Given the description of an element on the screen output the (x, y) to click on. 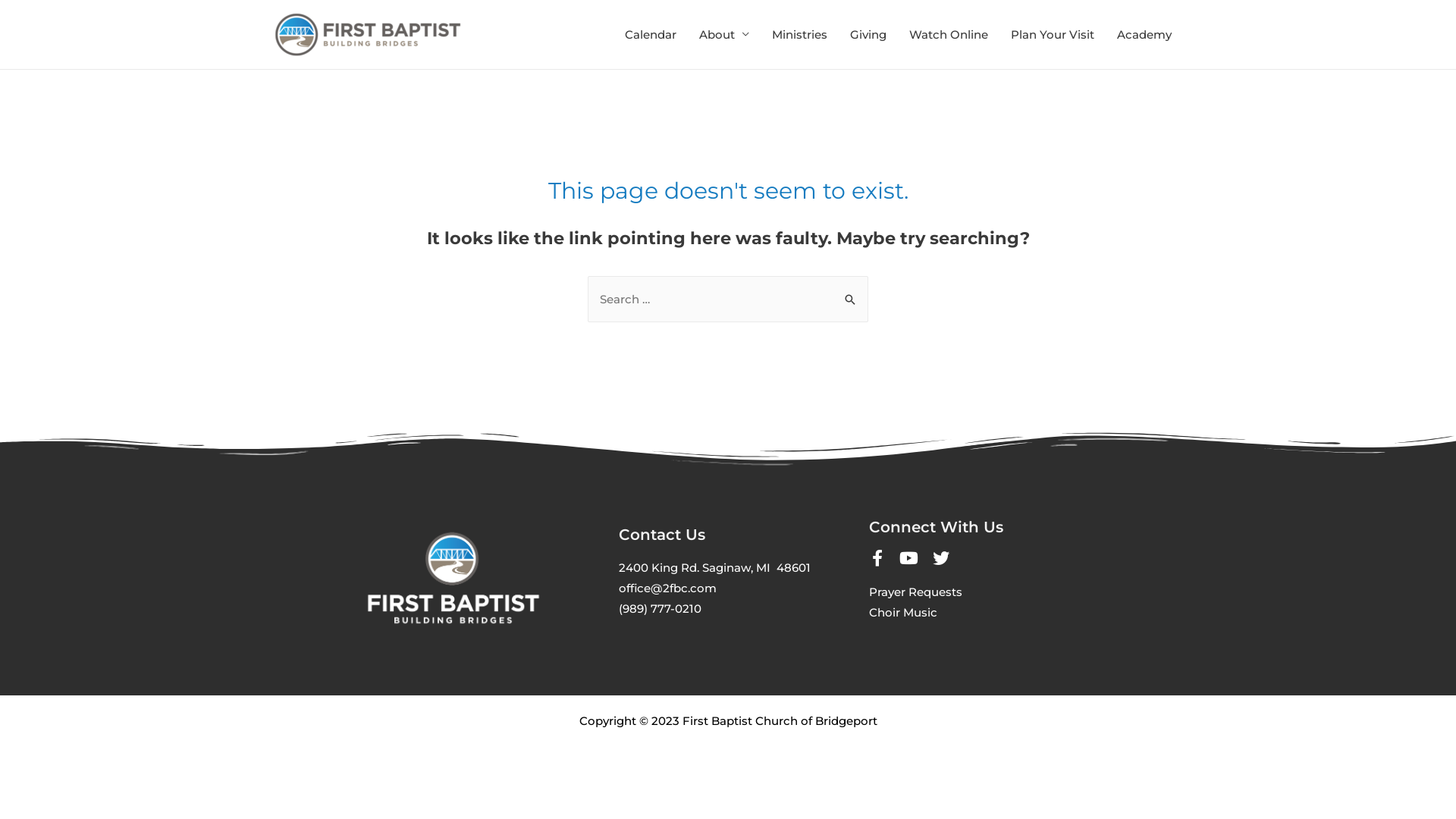
Academy Element type: text (1144, 34)
Choir Music Element type: text (903, 612)
(989) 777-0210 Element type: text (659, 608)
Plan Your Visit Element type: text (1052, 34)
Ministries Element type: text (799, 34)
Giving Element type: text (867, 34)
office@2fbc.com Element type: text (667, 587)
Search Element type: text (851, 291)
Prayer Requests Element type: text (915, 591)
Watch Online Element type: text (948, 34)
About Element type: text (723, 34)
Calendar Element type: text (650, 34)
